Given the description of an element on the screen output the (x, y) to click on. 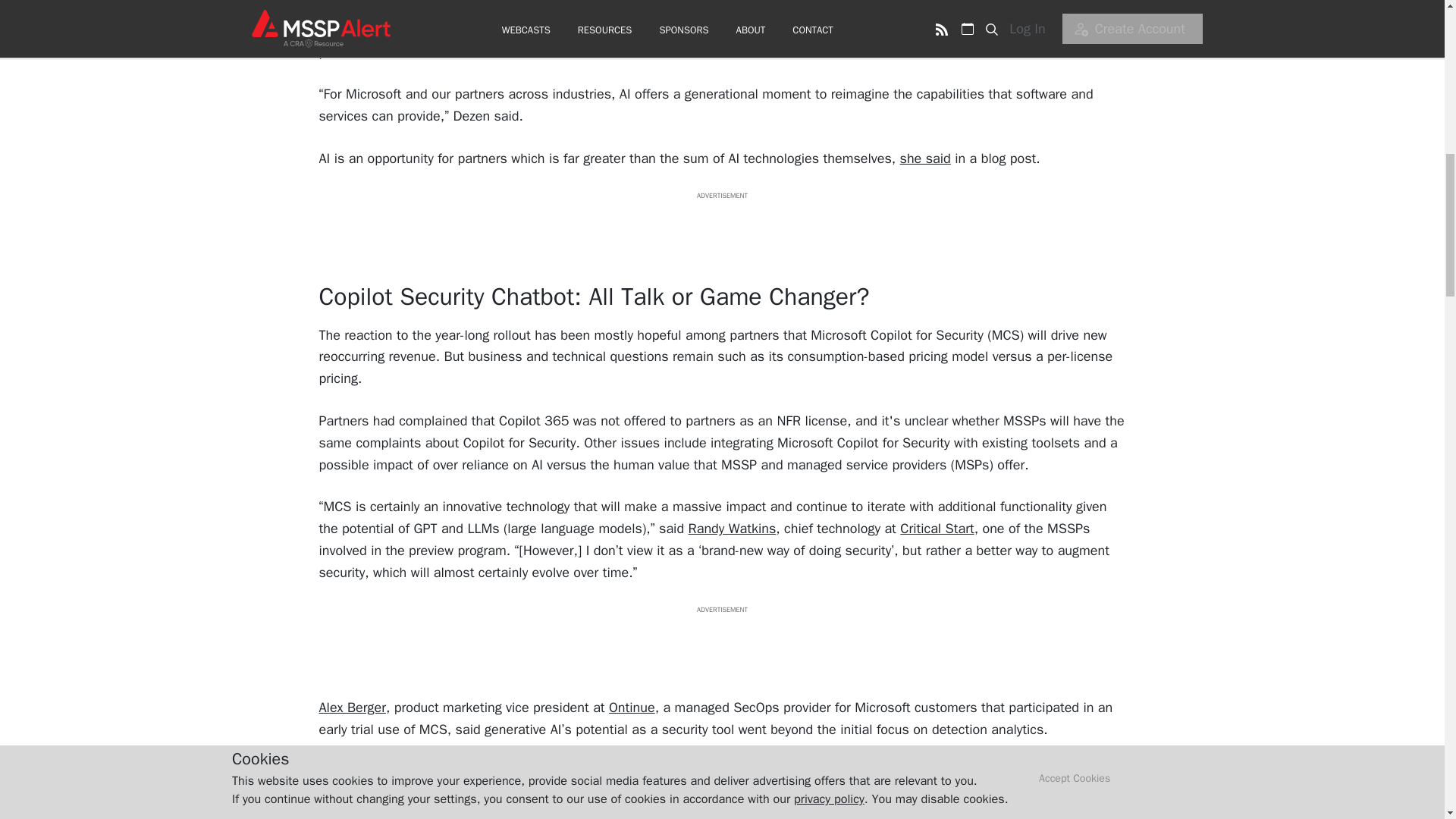
she said (924, 158)
Randy Watkins (732, 528)
Nicole Dezen (818, 30)
Alex Berger (351, 707)
Ontinue (631, 707)
Critical Start (936, 528)
3rd party ad content (721, 649)
3rd party ad content (721, 234)
